Given the description of an element on the screen output the (x, y) to click on. 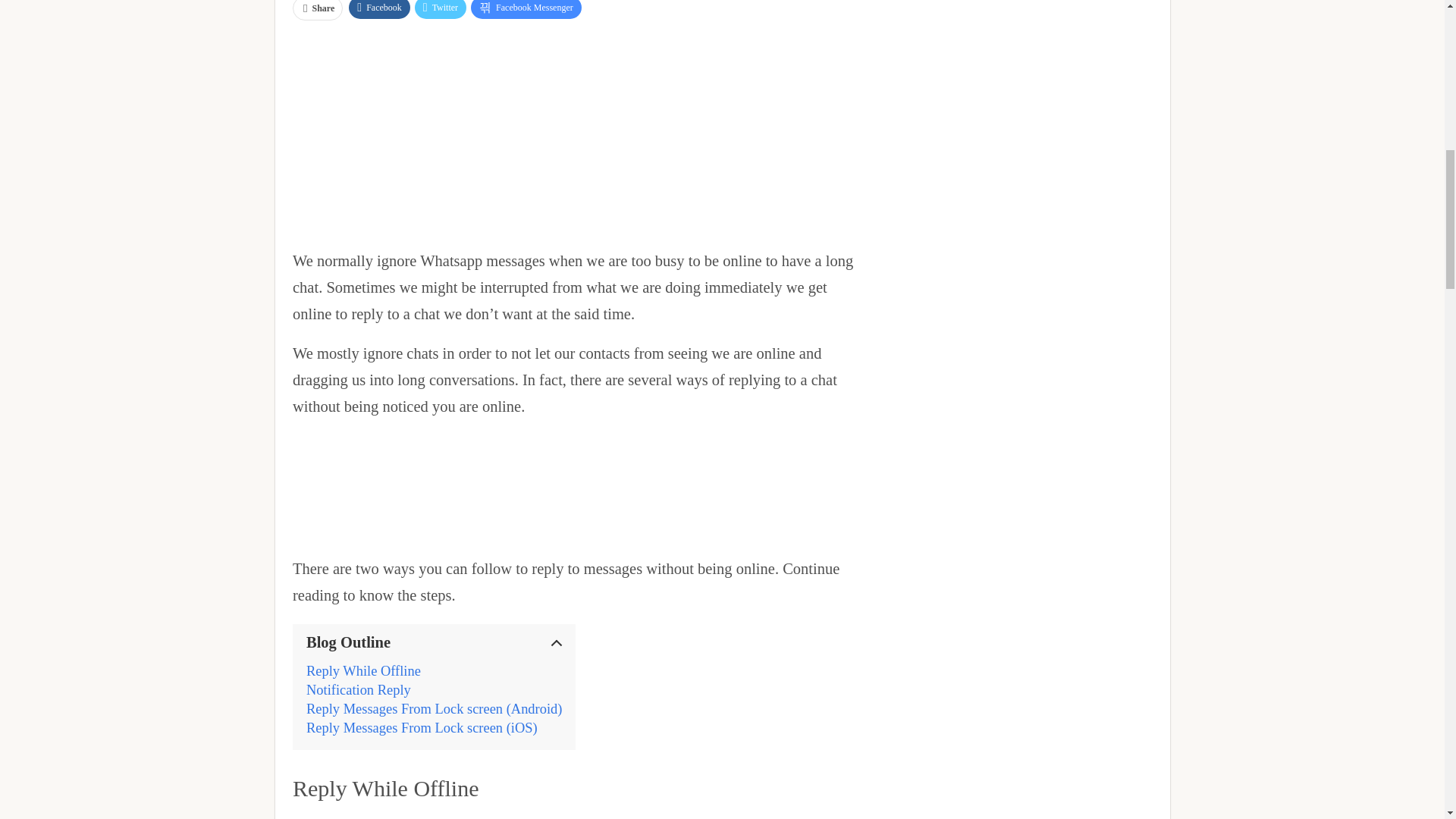
Notification Reply (357, 690)
Advertisement (575, 814)
Reply While Offline (362, 671)
Advertisement (575, 132)
Facebook Messenger (525, 9)
Facebook (379, 9)
Reply While Offline (362, 671)
Notification Reply (357, 690)
Twitter (439, 9)
